Given the description of an element on the screen output the (x, y) to click on. 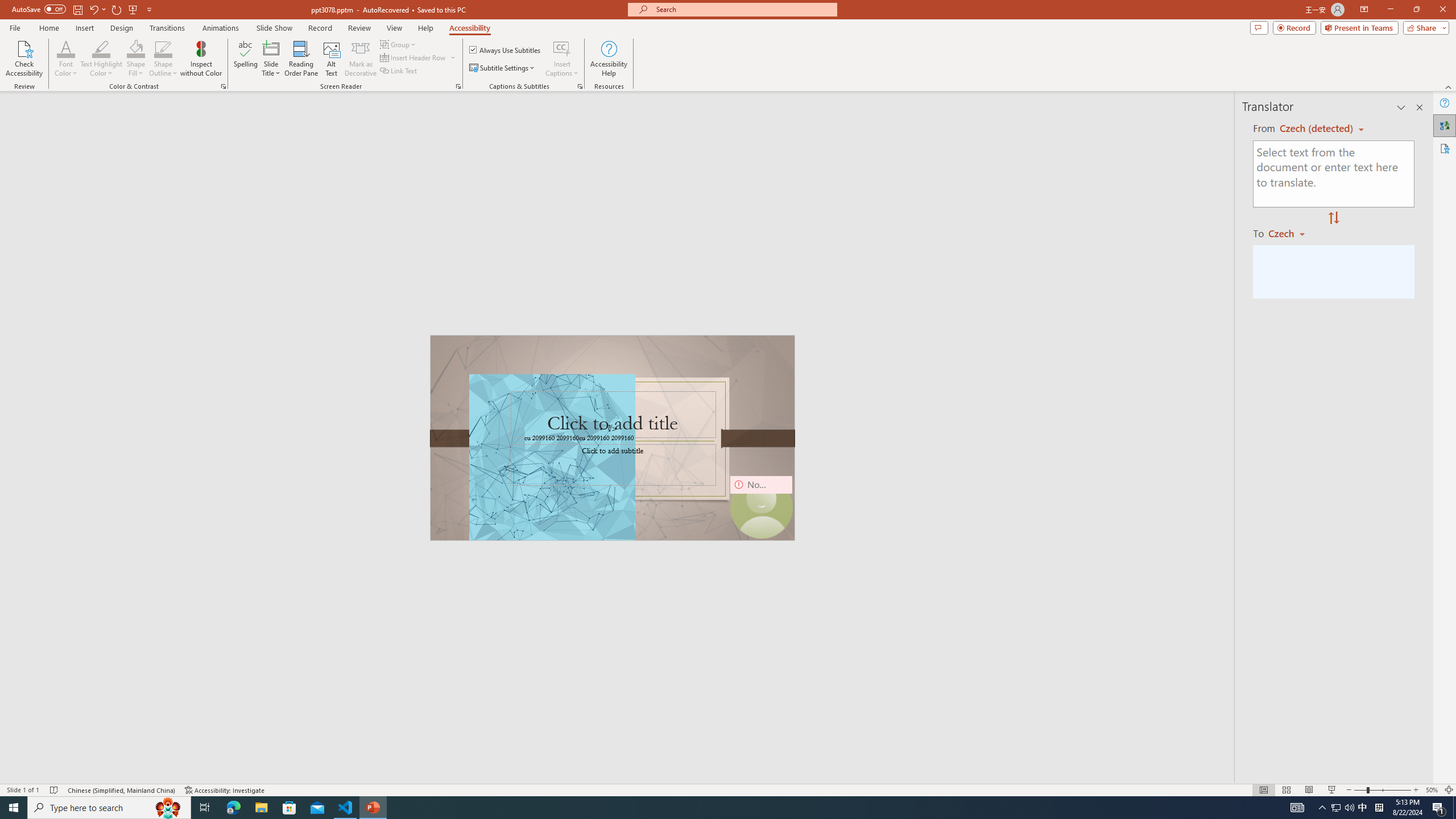
An abstract genetic concept (612, 437)
Insert Header Row (413, 56)
Accessibility Help (608, 58)
Czech (detected) (1317, 128)
